Given the description of an element on the screen output the (x, y) to click on. 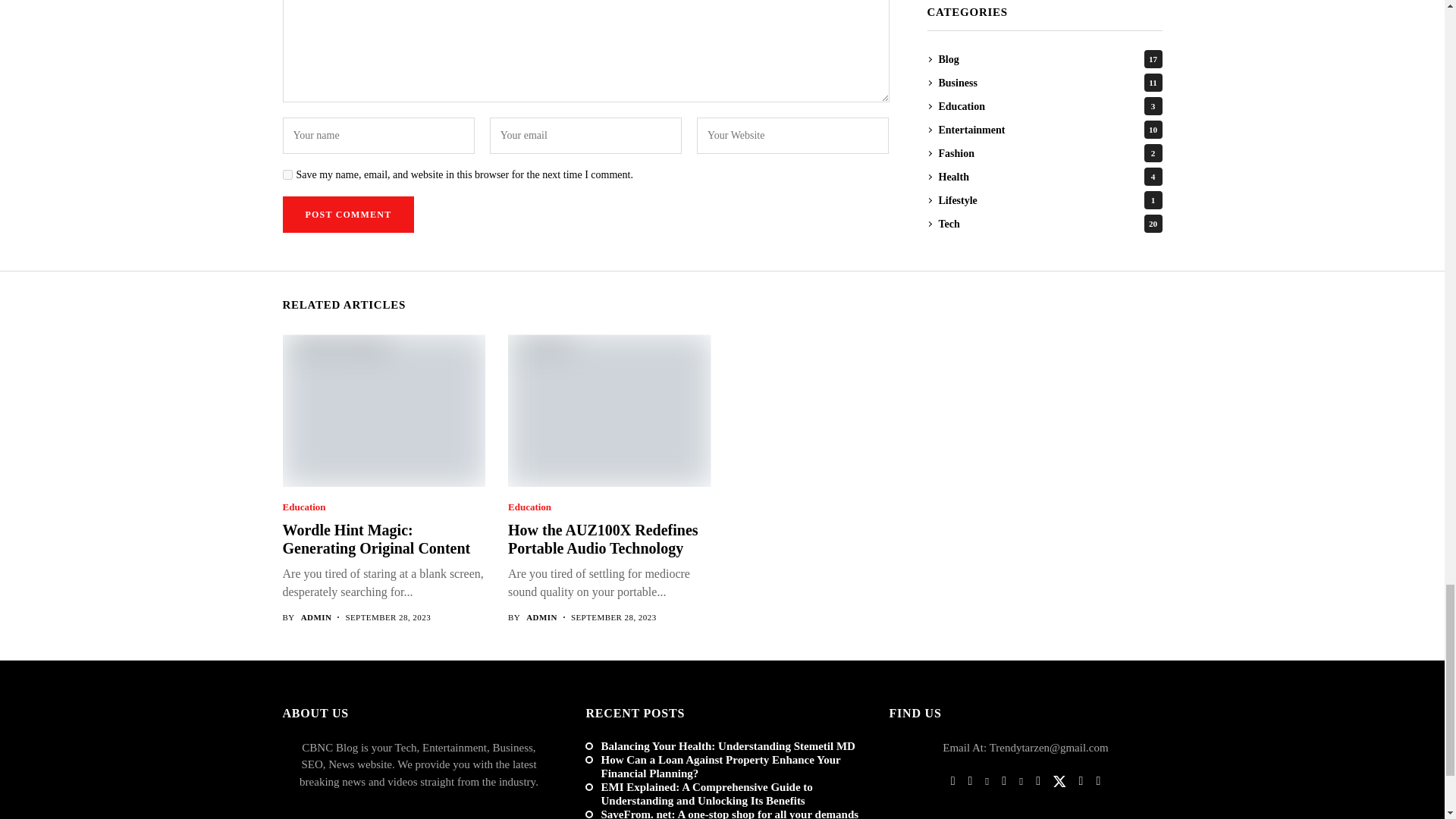
Posts by Admin (541, 617)
yes (287, 174)
Post Comment (347, 214)
Posts by Admin (316, 617)
